Given the description of an element on the screen output the (x, y) to click on. 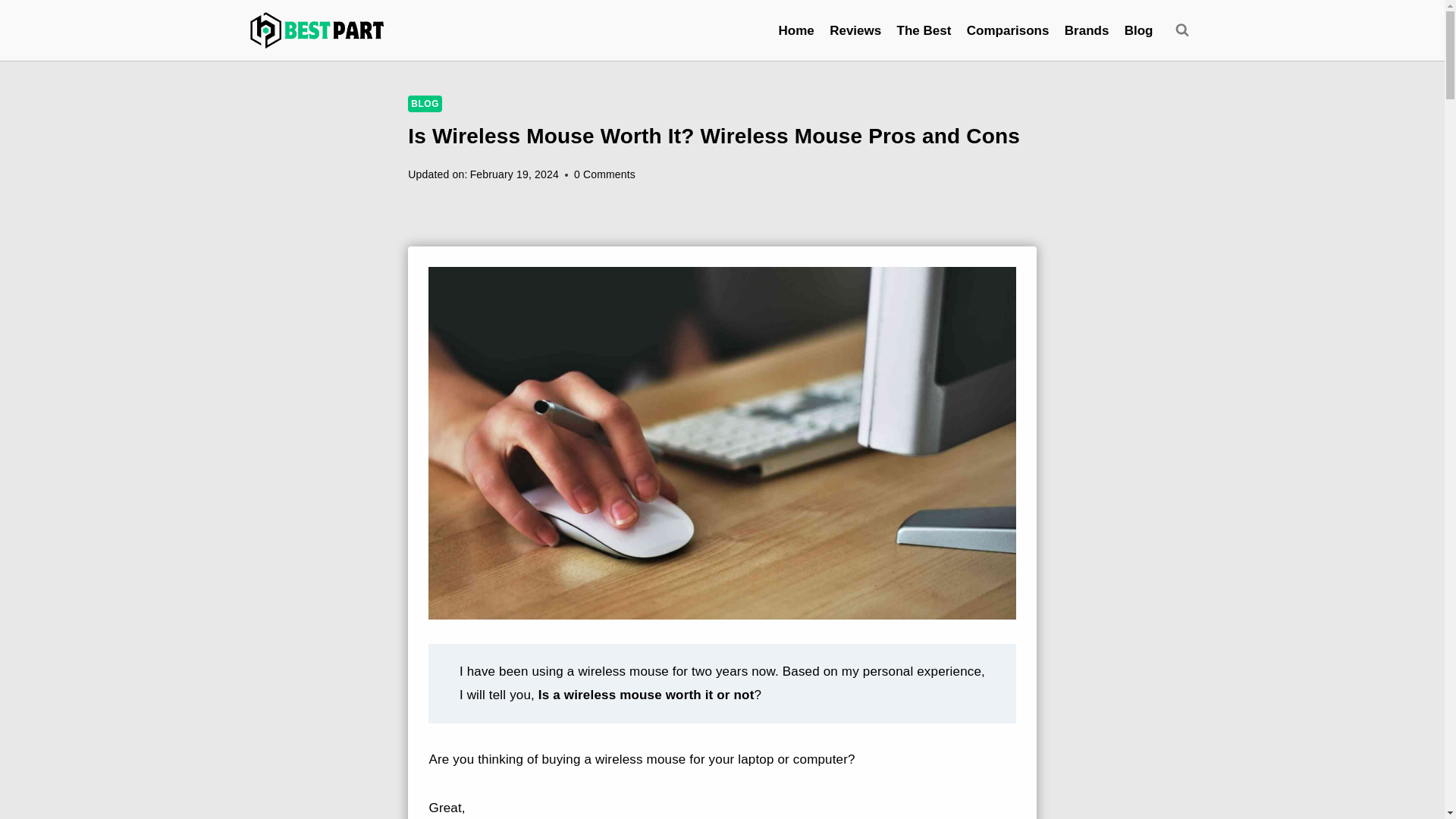
BLOG (424, 103)
Reviews (855, 29)
Comparisons (1008, 29)
Brands (1086, 29)
The Best (923, 29)
0 Comments (603, 174)
Home (796, 29)
Blog (1138, 29)
0 Comments (603, 174)
